Given the description of an element on the screen output the (x, y) to click on. 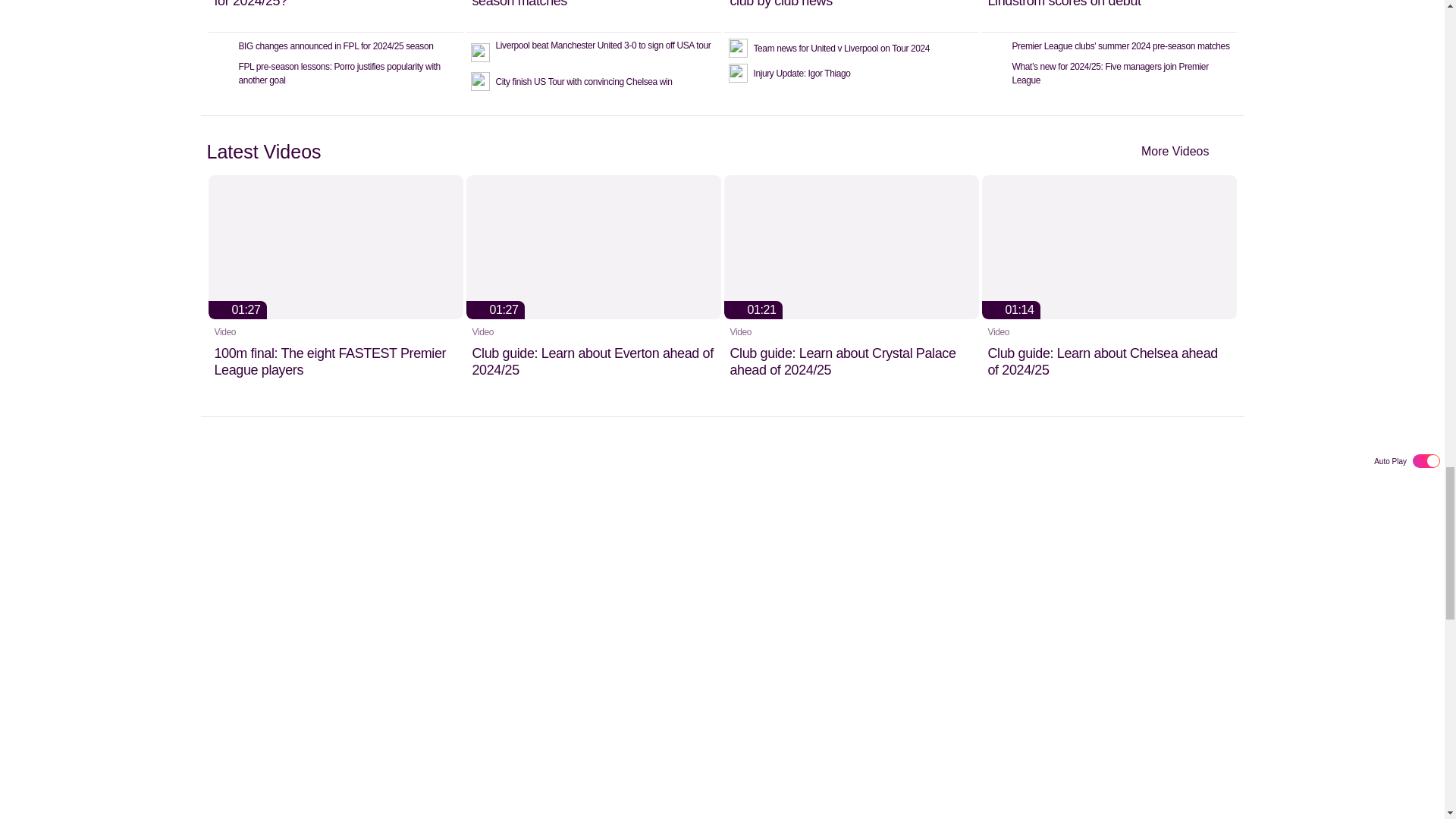
100m final: The eight FASTEST Premier League players (335, 286)
Latest Premier League player injuries - club by club news (850, 15)
Premier League clubs' summer 2024 pre-season matches (592, 15)
